Given the description of an element on the screen output the (x, y) to click on. 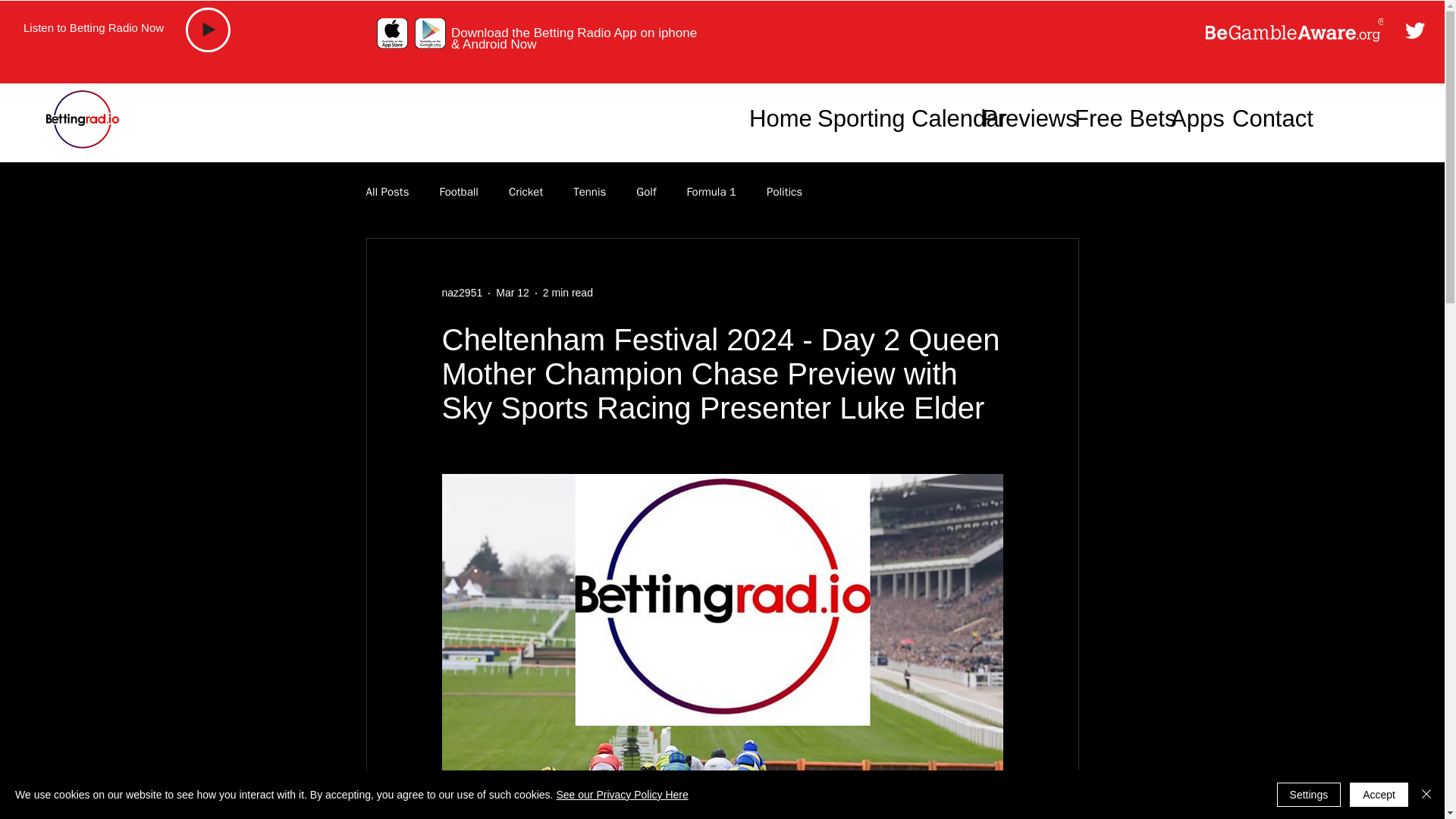
Free Bets (1110, 118)
All Posts (387, 192)
Golf (646, 192)
Cricket (525, 192)
Politics (784, 192)
Formula 1 (710, 192)
Sporting Calendar (888, 118)
Mar 12 (512, 292)
Contact (1261, 118)
naz2951 (461, 293)
